Given the description of an element on the screen output the (x, y) to click on. 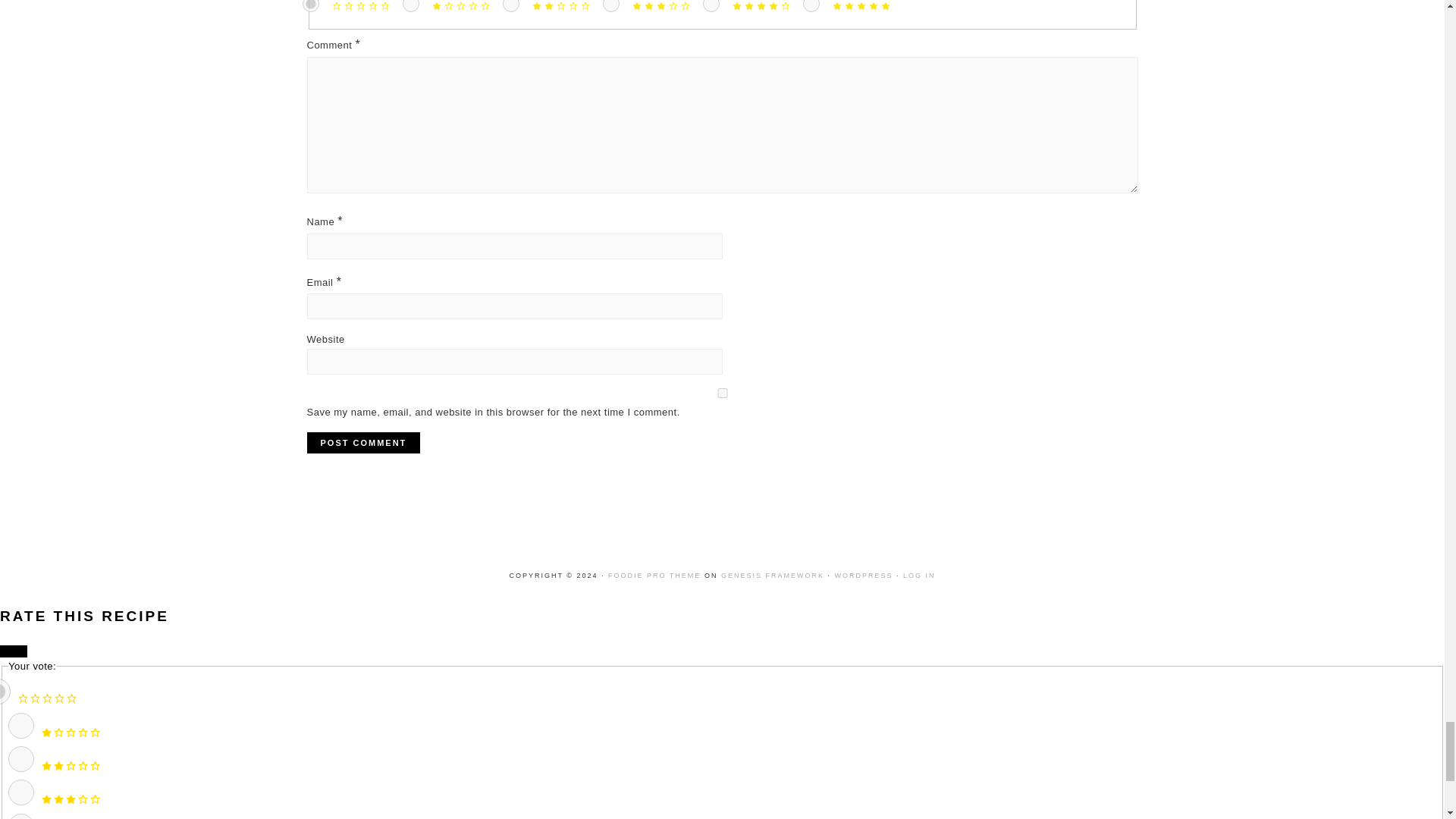
2 (510, 6)
5 (810, 6)
0 (309, 6)
Post Comment (362, 442)
1 (20, 725)
2 (20, 759)
3 (20, 792)
1 (410, 6)
3 (610, 6)
4 (20, 816)
yes (721, 393)
4 (710, 6)
